Given the description of an element on the screen output the (x, y) to click on. 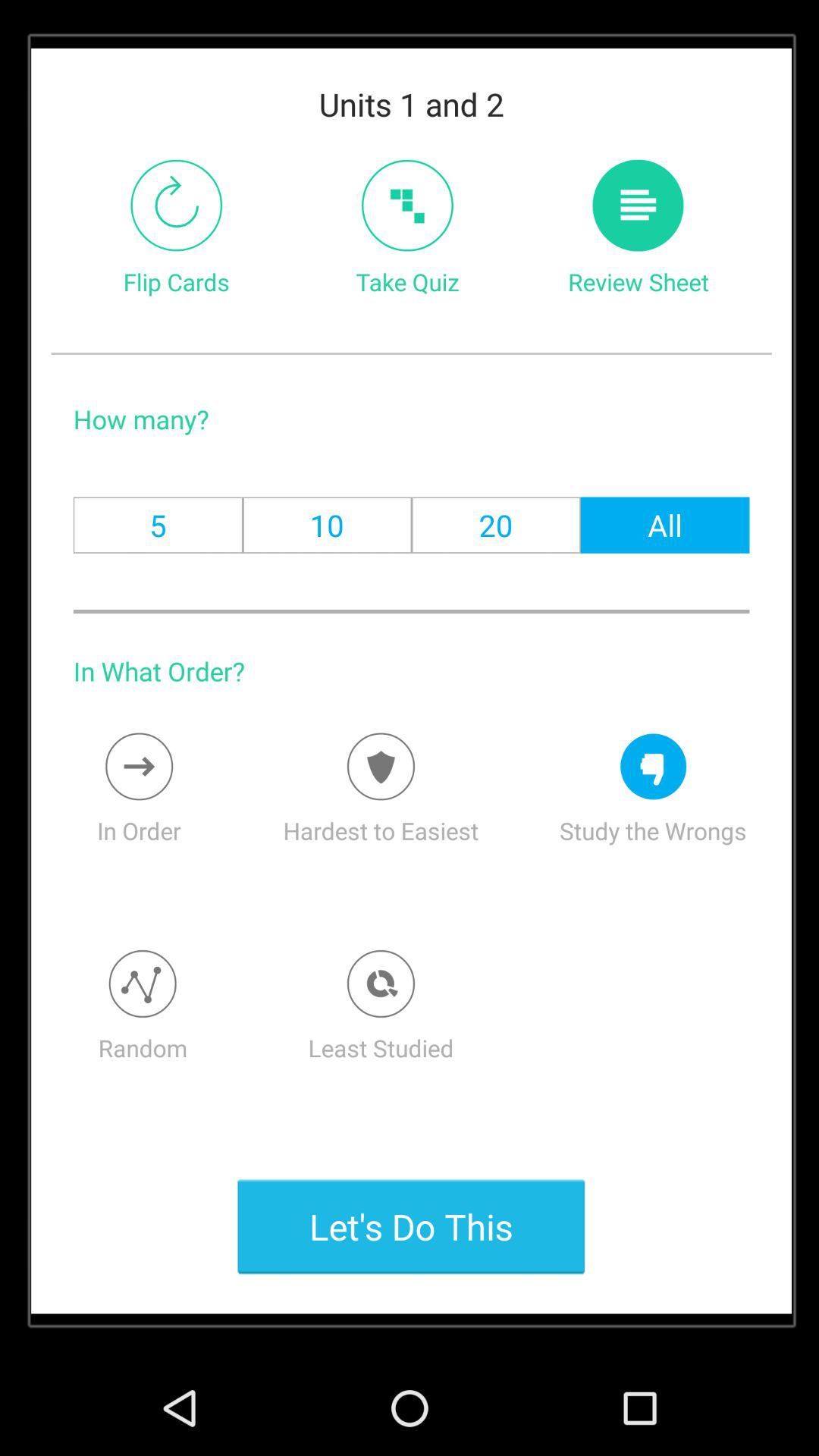
select option (139, 766)
